Given the description of an element on the screen output the (x, y) to click on. 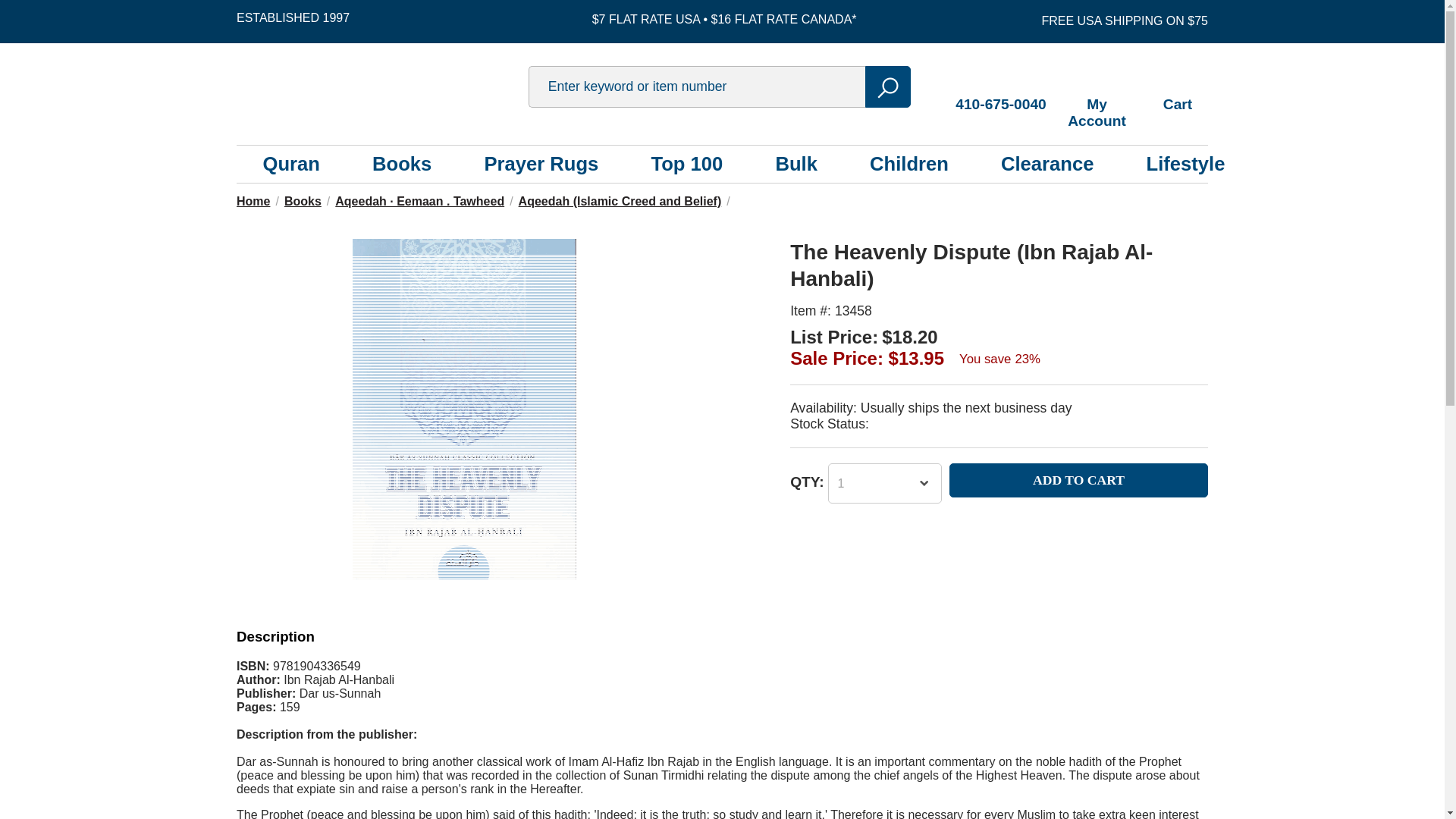
My Account (1096, 95)
Prayer Rugs (540, 164)
Home (252, 201)
Add To Cart (1078, 480)
IslamicBookstore.com (376, 86)
Books (302, 201)
Description (274, 636)
islamicbookstore.com (376, 86)
Add To Cart (1078, 480)
410-675-0040 (1000, 87)
Top 100 (686, 164)
Quran (291, 164)
Books (401, 164)
Bulk (795, 164)
Clearance (1047, 164)
